Given the description of an element on the screen output the (x, y) to click on. 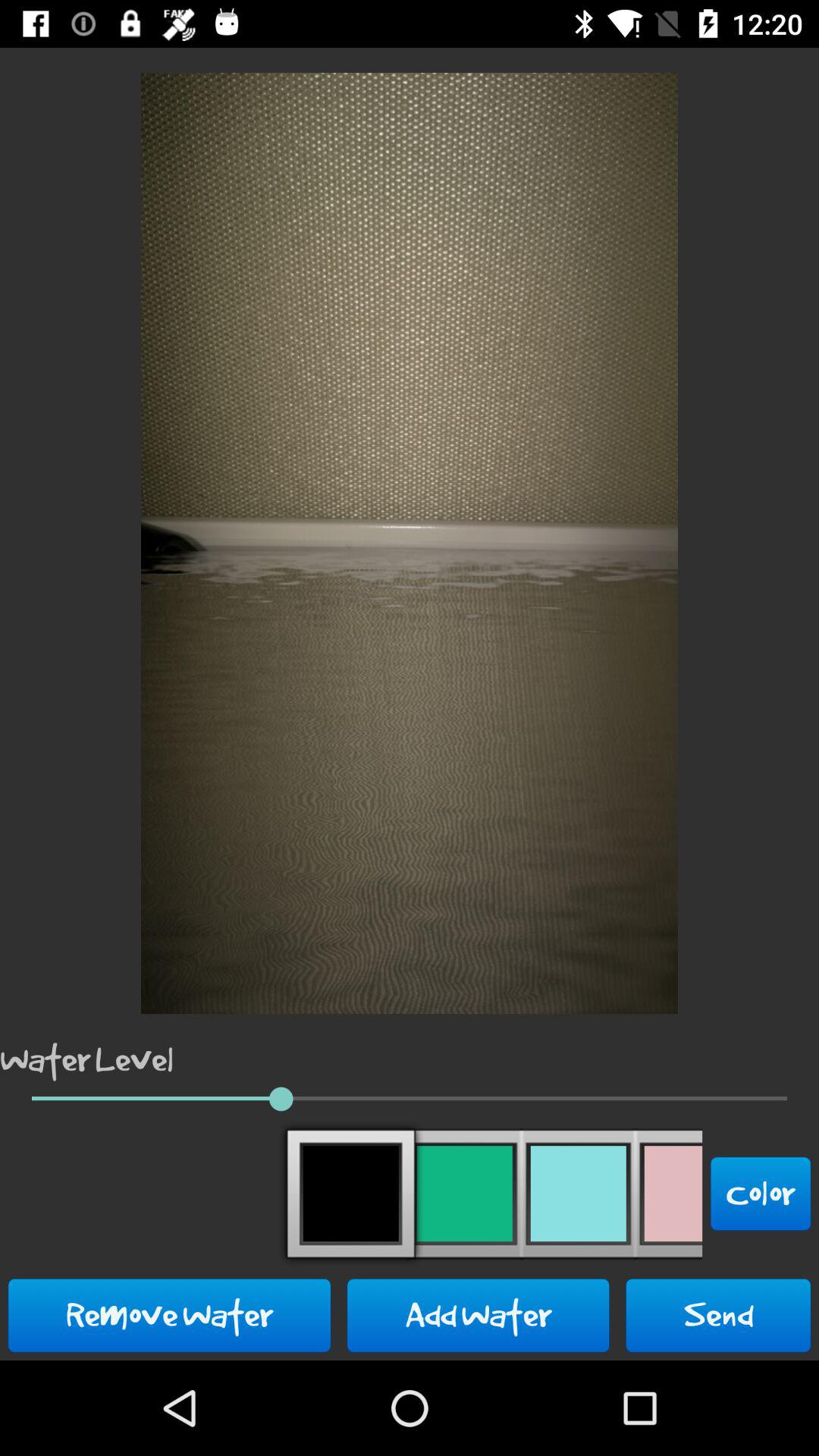
launch the icon to the right of the add water icon (718, 1315)
